Given the description of an element on the screen output the (x, y) to click on. 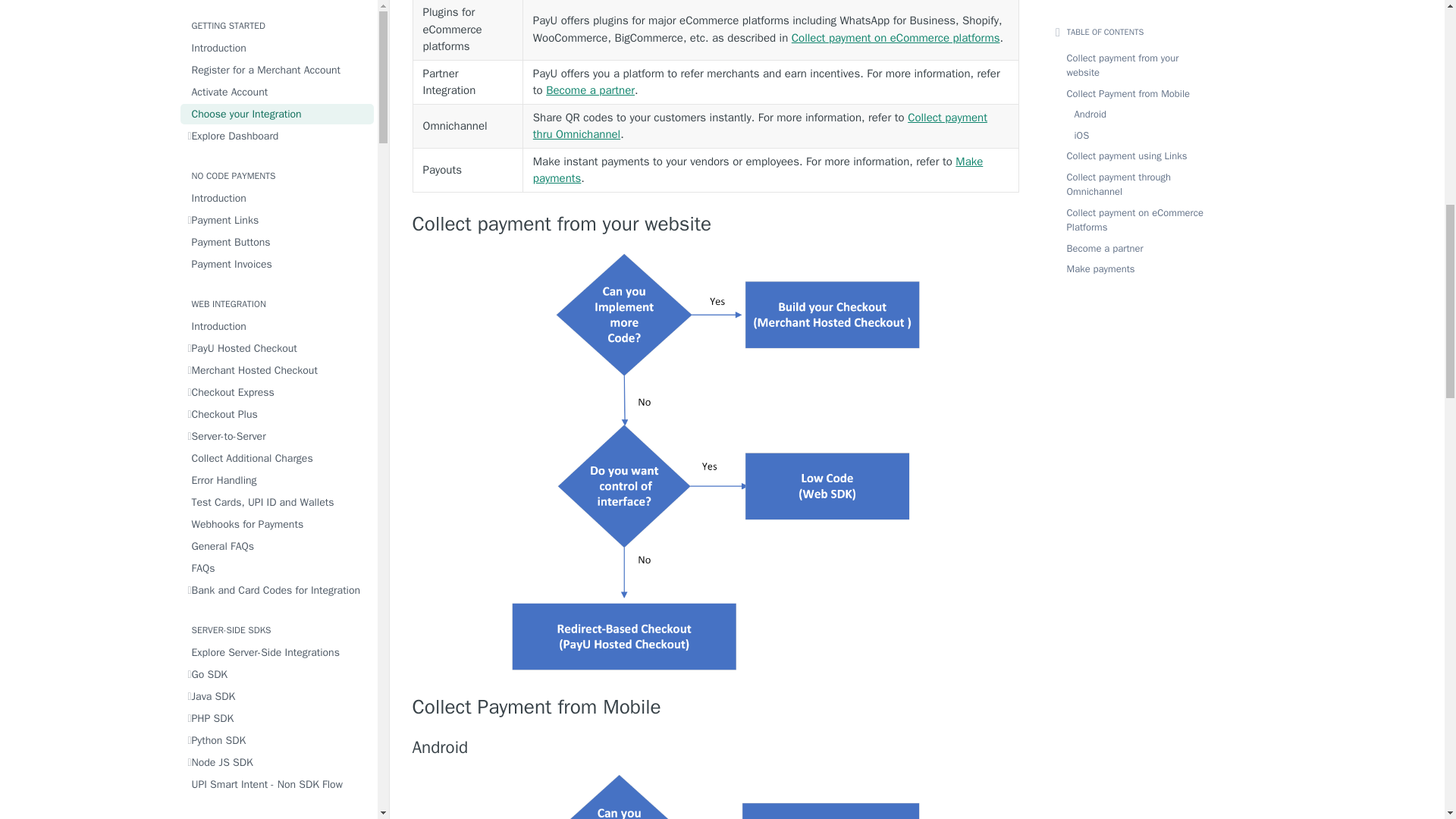
Collect Payment from Mobile (715, 707)
Collect payment from your website (715, 224)
Android (715, 747)
